Given the description of an element on the screen output the (x, y) to click on. 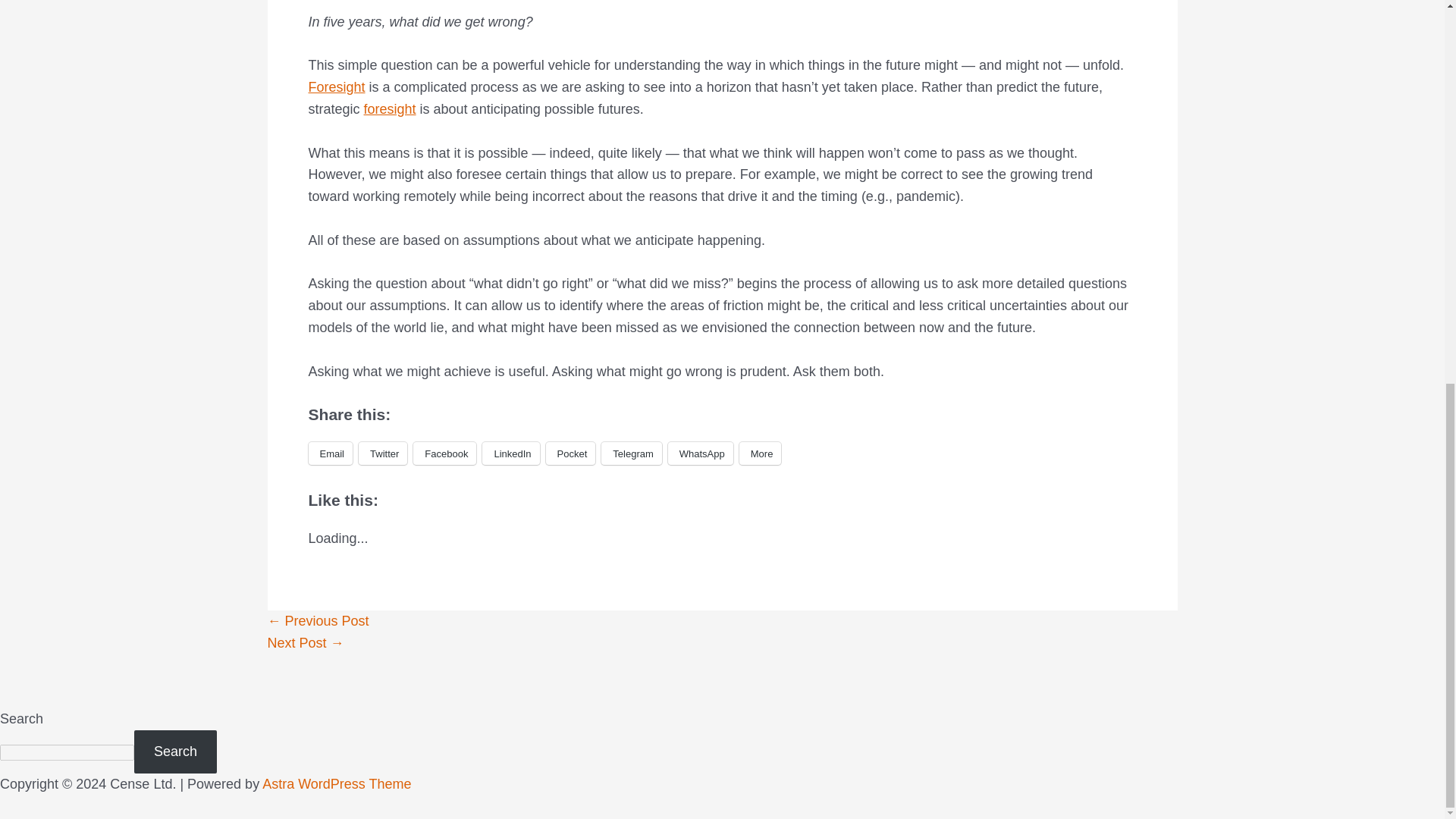
Click to share on LinkedIn (509, 453)
Click to share on Pocket (570, 453)
Facebook (444, 453)
Telegram (631, 453)
foresight (390, 109)
Click to share on WhatsApp (700, 453)
Twitter (382, 453)
LinkedIn (509, 453)
WhatsApp (700, 453)
Pocket (570, 453)
Click to share on Facebook (444, 453)
Click to share on Telegram (631, 453)
Email (329, 453)
Click to email a link to a friend (329, 453)
Click to share on Twitter (382, 453)
